Given the description of an element on the screen output the (x, y) to click on. 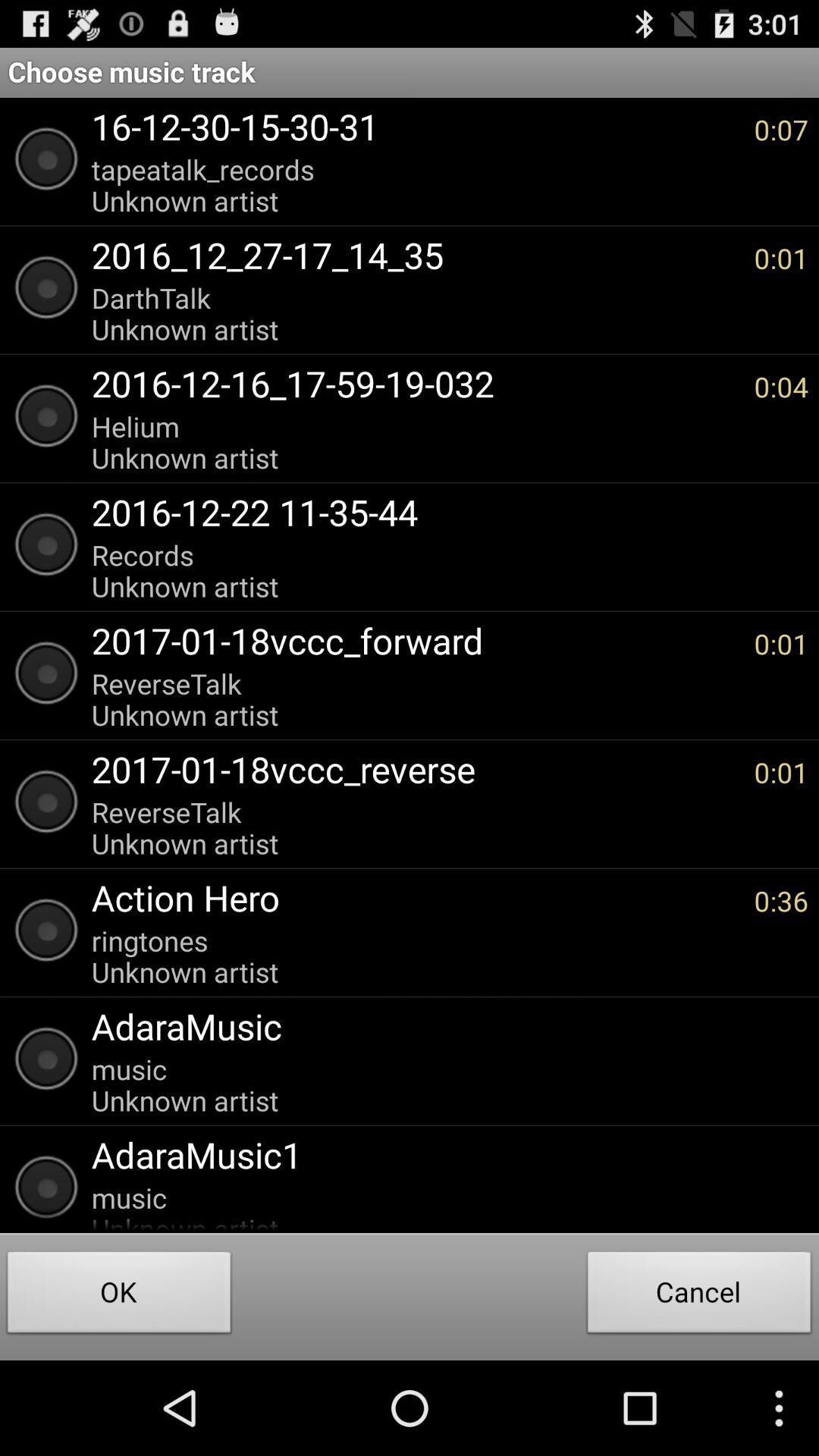
jump until the adaramusic item (441, 1026)
